Given the description of an element on the screen output the (x, y) to click on. 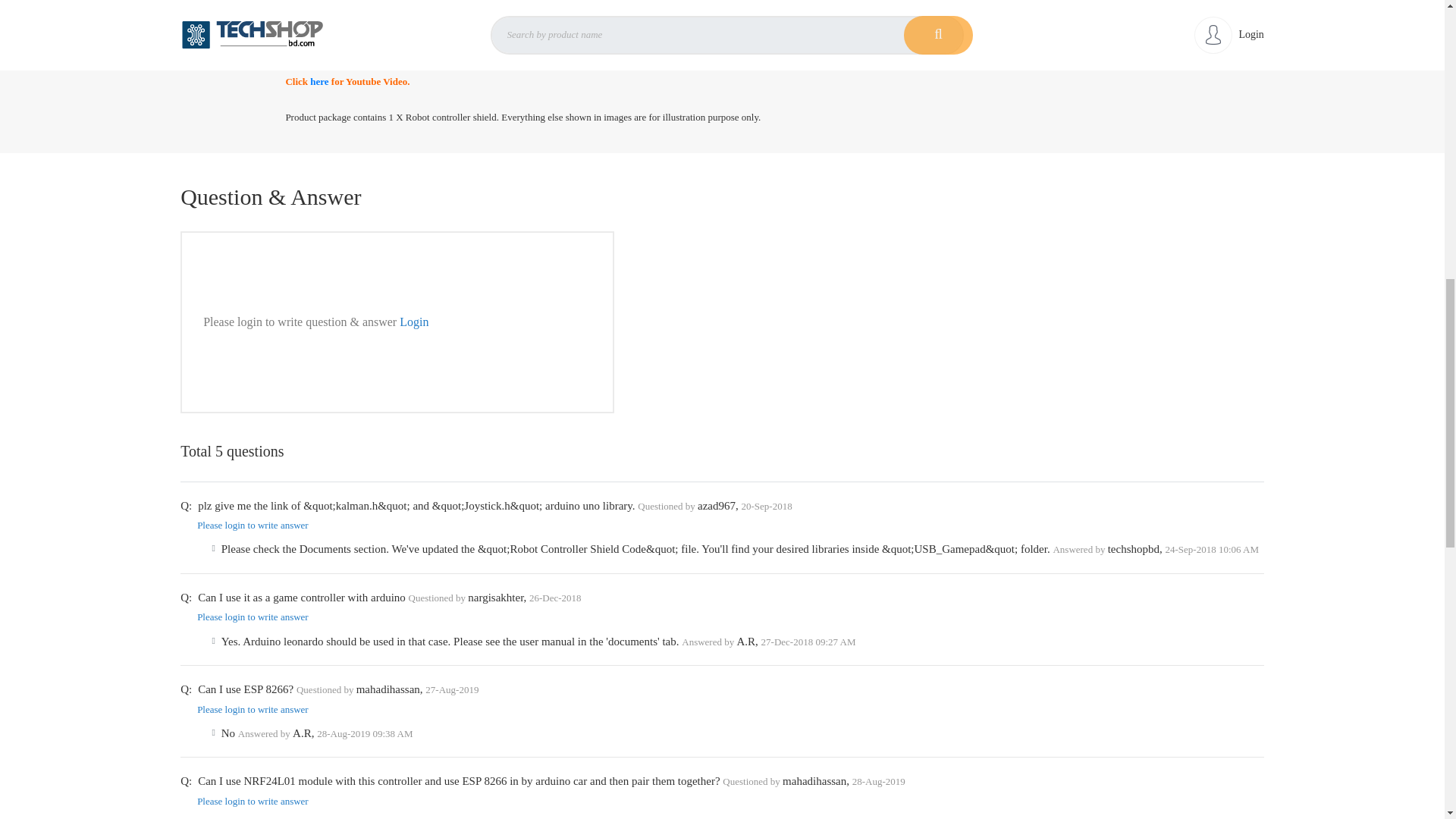
here (319, 62)
here (319, 81)
